Given the description of an element on the screen output the (x, y) to click on. 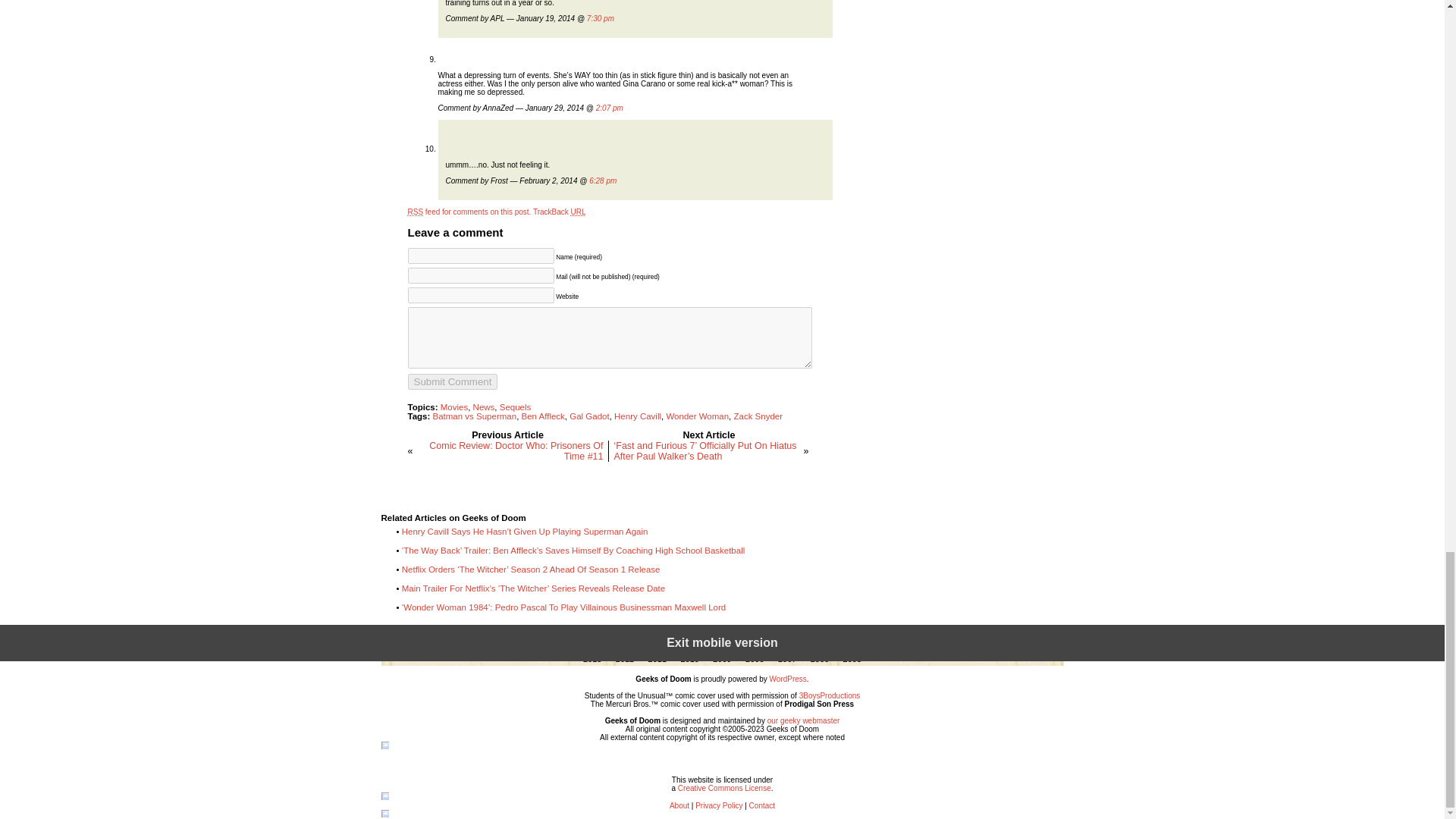
Movies (454, 406)
TrackBack URL (559, 212)
Universal Resource Locator (578, 212)
Zack Snyder (758, 415)
Batman vs Superman (474, 415)
Henry Cavill (637, 415)
Wonder Woman (697, 415)
Ben Affleck (542, 415)
2:07 pm (609, 108)
Gal Gadot (588, 415)
